Given the description of an element on the screen output the (x, y) to click on. 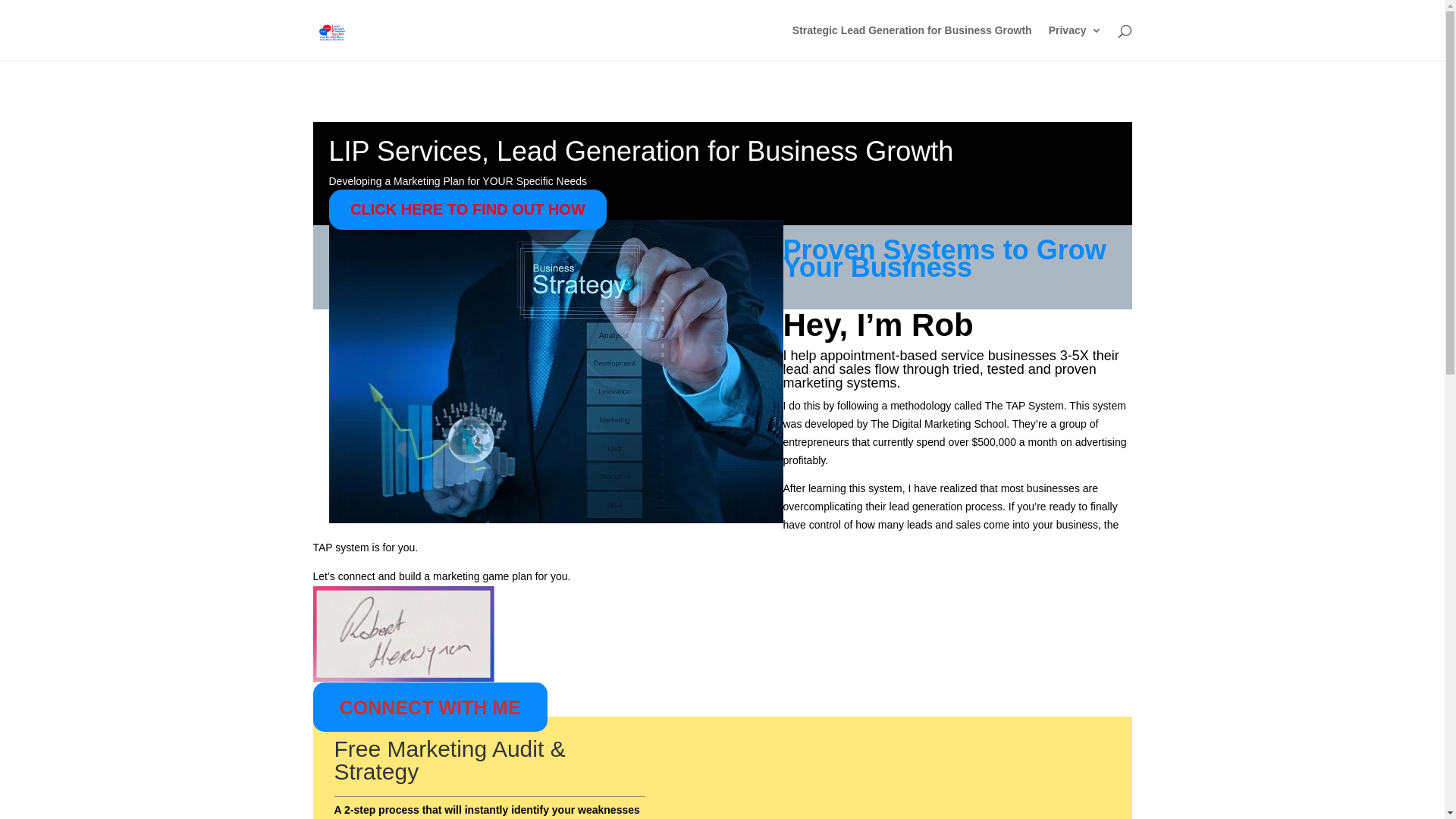
Strategic Lead Generation for Business Growth Element type: text (912, 42)
CONNECT WITH ME Element type: text (429, 706)
CLICK HERE TO FIND OUT HOW Element type: text (468, 209)
Privacy Element type: text (1074, 42)
